Given the description of an element on the screen output the (x, y) to click on. 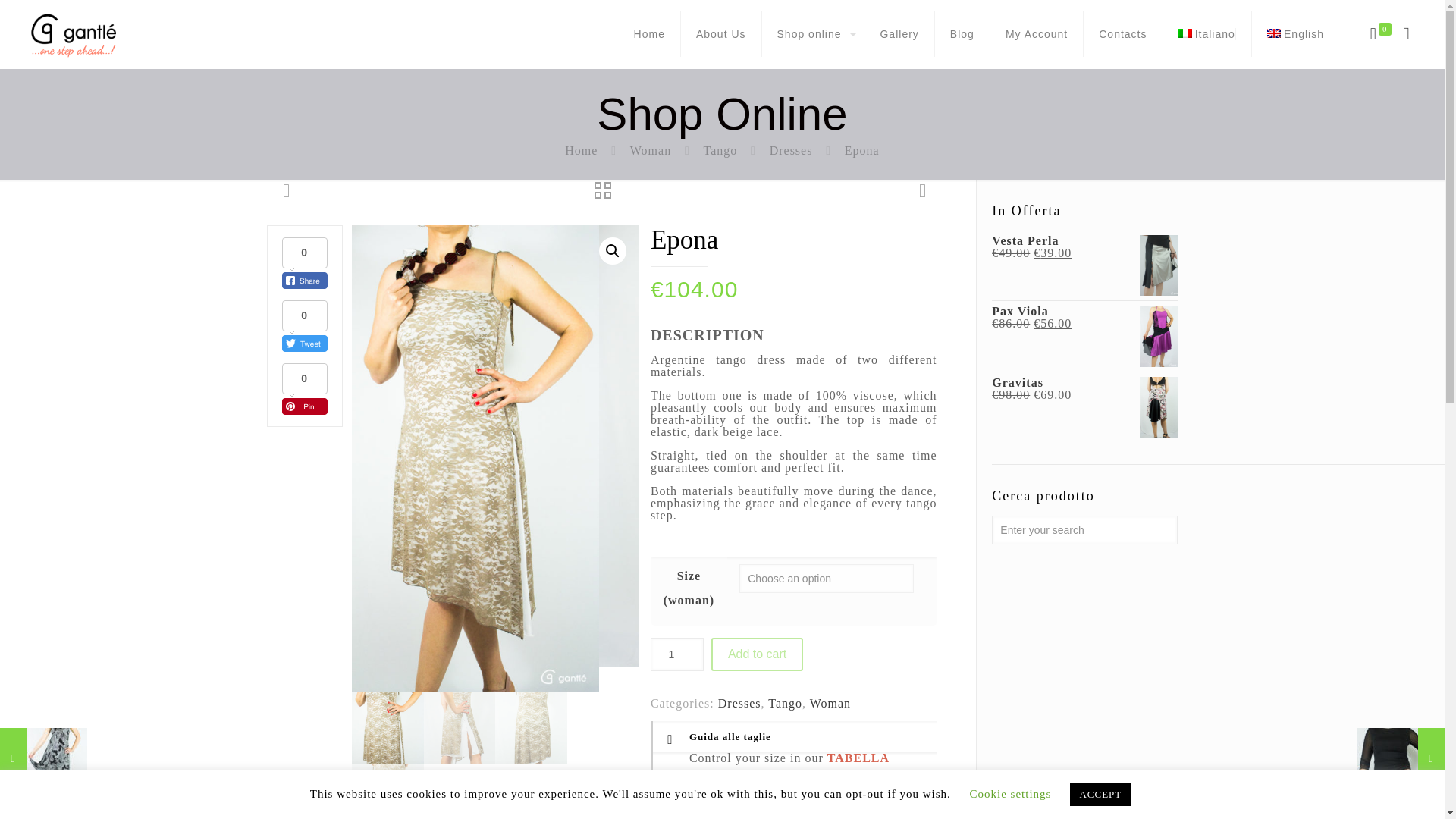
Dresses (791, 150)
Gallery (899, 33)
1 (676, 654)
English (1295, 33)
Shop online (812, 33)
English (1295, 33)
Italiano (1207, 33)
Tango (720, 150)
Home (580, 150)
Woman (650, 150)
0 (1379, 34)
My Account (1036, 33)
Contacts (1122, 33)
Italiano (1207, 33)
Home (649, 33)
